Given the description of an element on the screen output the (x, y) to click on. 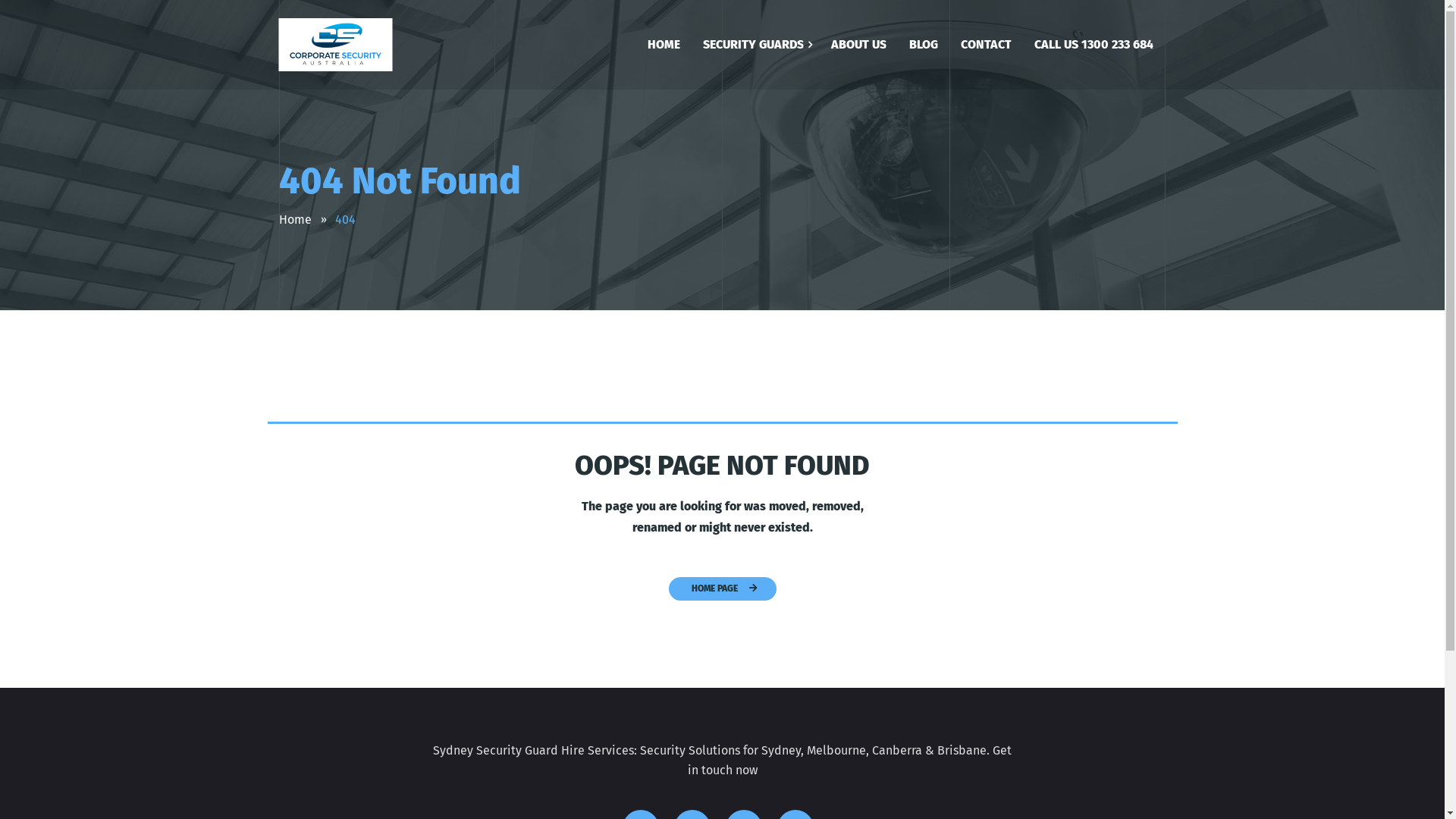
CALL US 1300 233 684 Element type: text (1093, 48)
SECURITY GUARDS Element type: text (753, 48)
CONTACT Element type: text (985, 48)
HOME PAGE Element type: text (722, 588)
ABOUT US Element type: text (858, 48)
Home Element type: text (295, 219)
HOME Element type: text (662, 48)
BLOG Element type: text (923, 48)
